Given the description of an element on the screen output the (x, y) to click on. 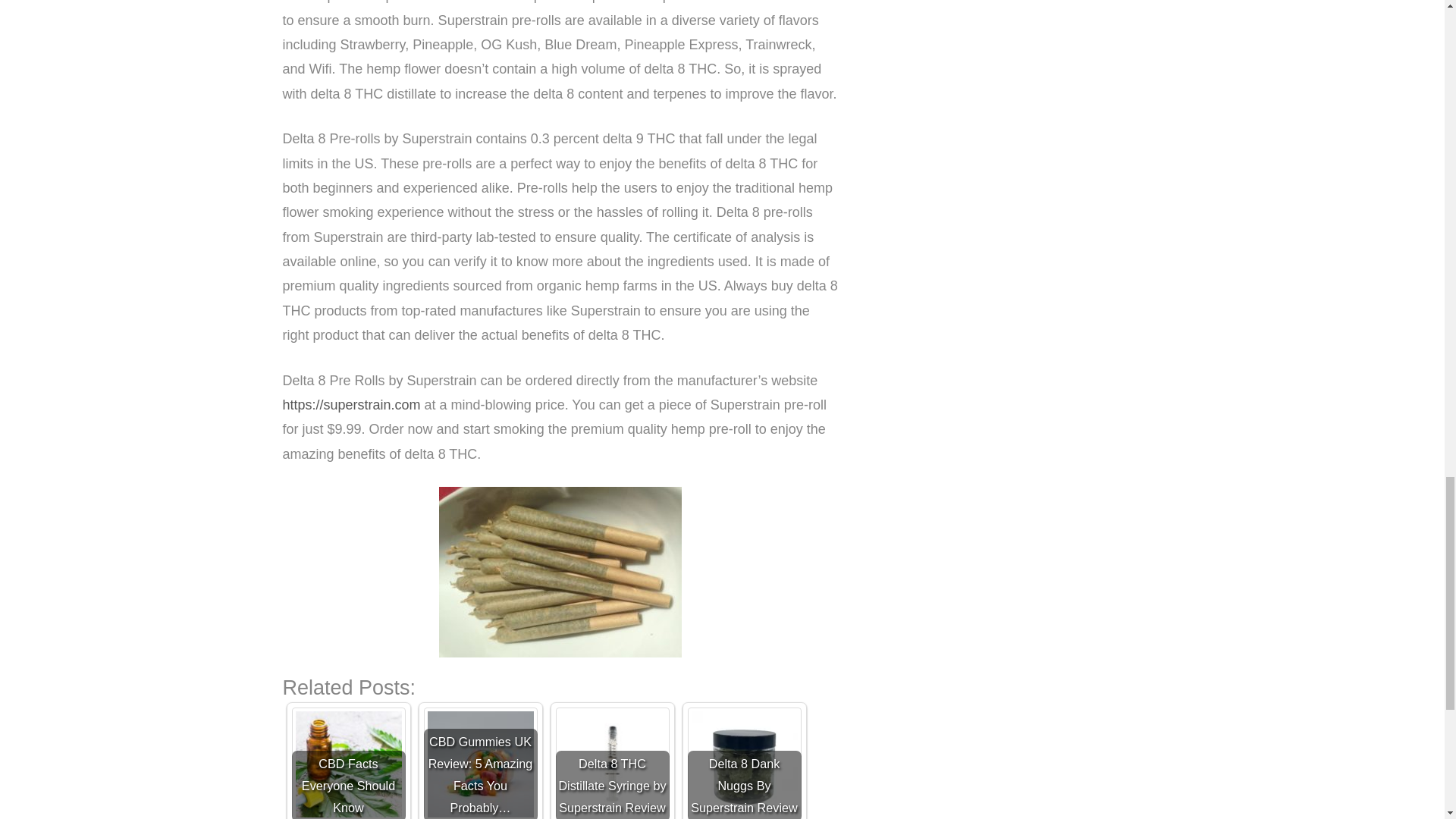
CBD Facts Everyone Should Know (347, 763)
Delta 8 THC Distillate Syringe by Superstrain Review (611, 763)
CBD Facts Everyone Should Know (347, 763)
Delta 8 THC Distillate Syringe by Superstrain Review (611, 763)
Delta 8 Dank Nuggs By Superstrain Review (743, 763)
Delta 8 Dank Nuggs By Superstrain Review (743, 763)
